Given the description of an element on the screen output the (x, y) to click on. 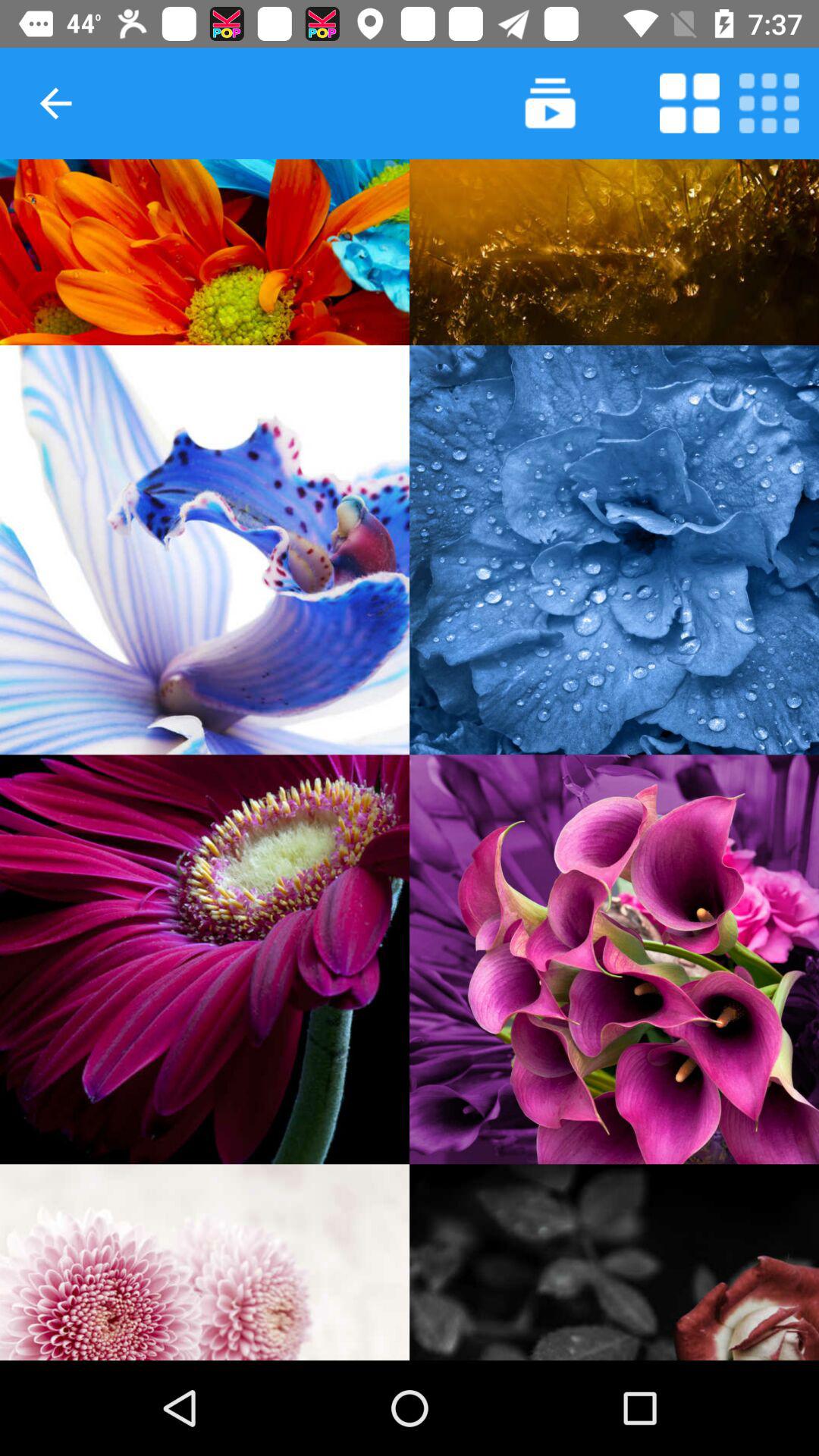
choose this flower (614, 549)
